Given the description of an element on the screen output the (x, y) to click on. 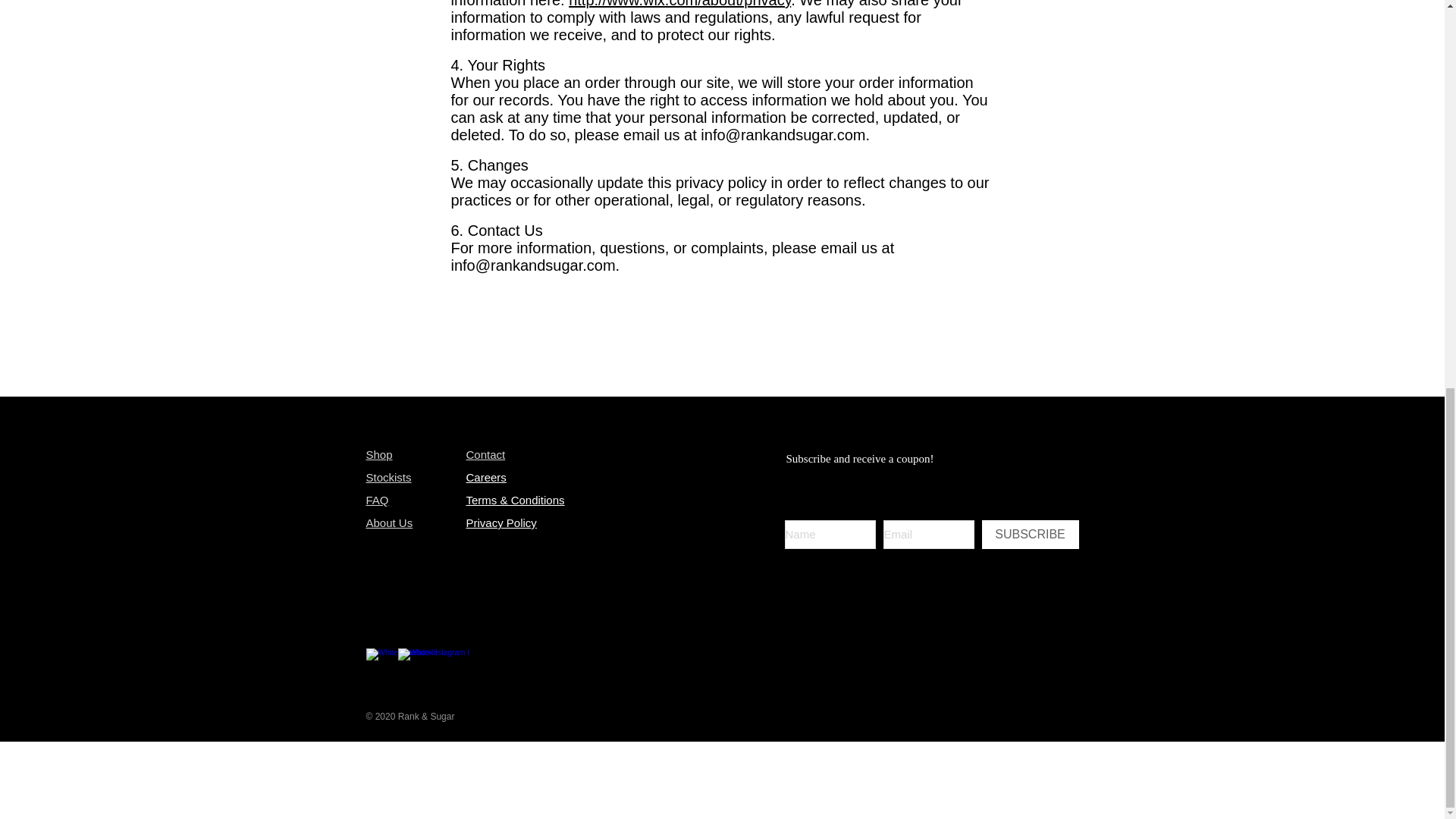
Stockists (387, 477)
Privacy Policy (500, 522)
SUBSCRIBE (1029, 534)
Contact (485, 454)
Shop (378, 454)
Careers (485, 477)
About Us (388, 522)
FAQ (376, 499)
